Given the description of an element on the screen output the (x, y) to click on. 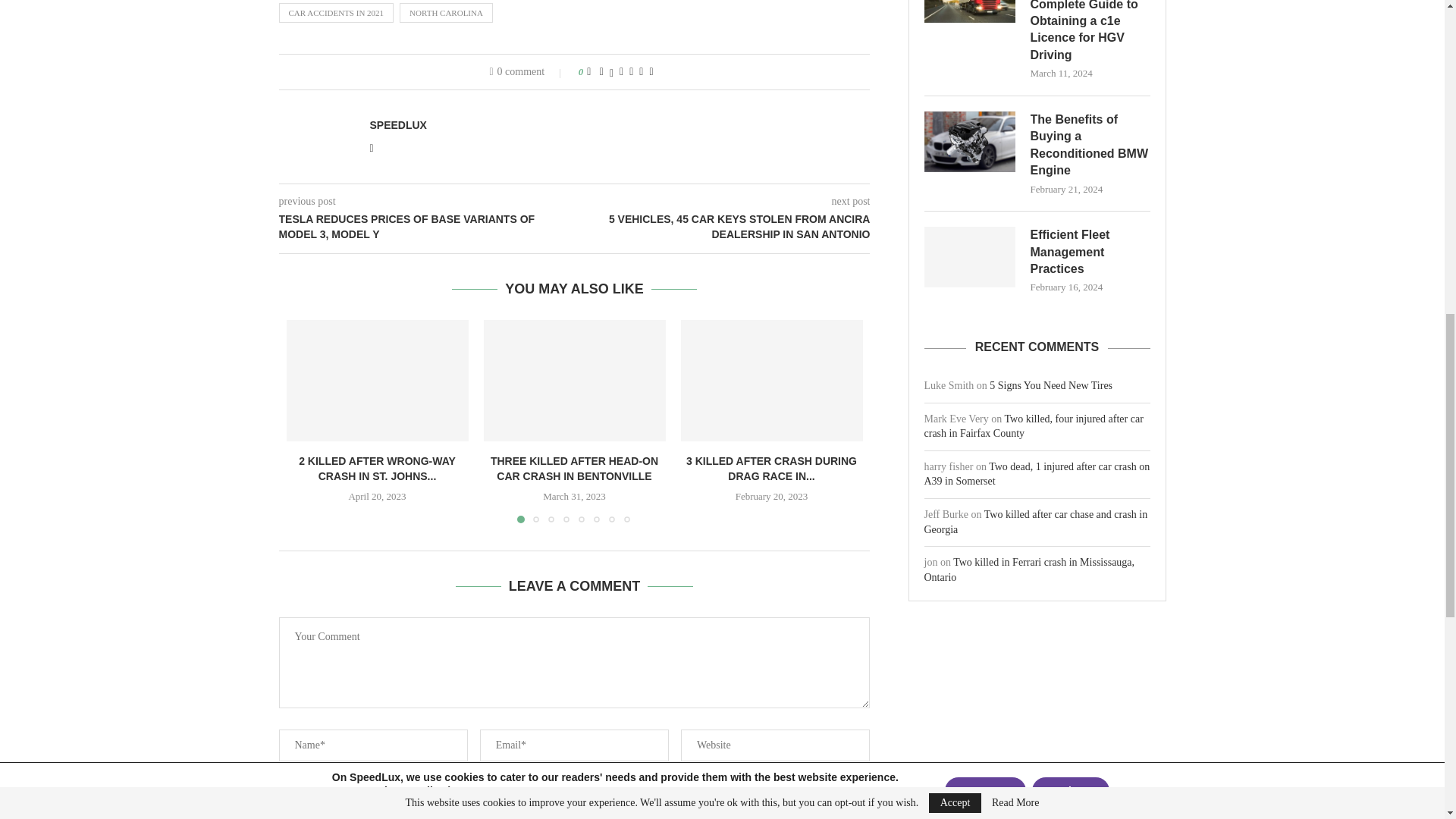
2 killed after wrong-way crash in St. Johns County (377, 380)
Like (588, 71)
CAR ACCIDENTS IN 2021 (336, 12)
3 killed after crash during drag race in Chicago (772, 380)
SPEEDLUX (397, 124)
Three killed after head-on car crash in Bentonville (574, 380)
Author SpeedLux (397, 124)
Submit (574, 814)
THREE KILLED AFTER HEAD-ON CAR CRASH IN BENTONVILLE (574, 468)
TESLA REDUCES PRICES OF BASE VARIANTS OF MODEL 3, MODEL Y (427, 226)
NORTH CAROLINA (445, 12)
yes (283, 789)
2 KILLED AFTER WRONG-WAY CRASH IN ST. JOHNS... (376, 468)
